Given the description of an element on the screen output the (x, y) to click on. 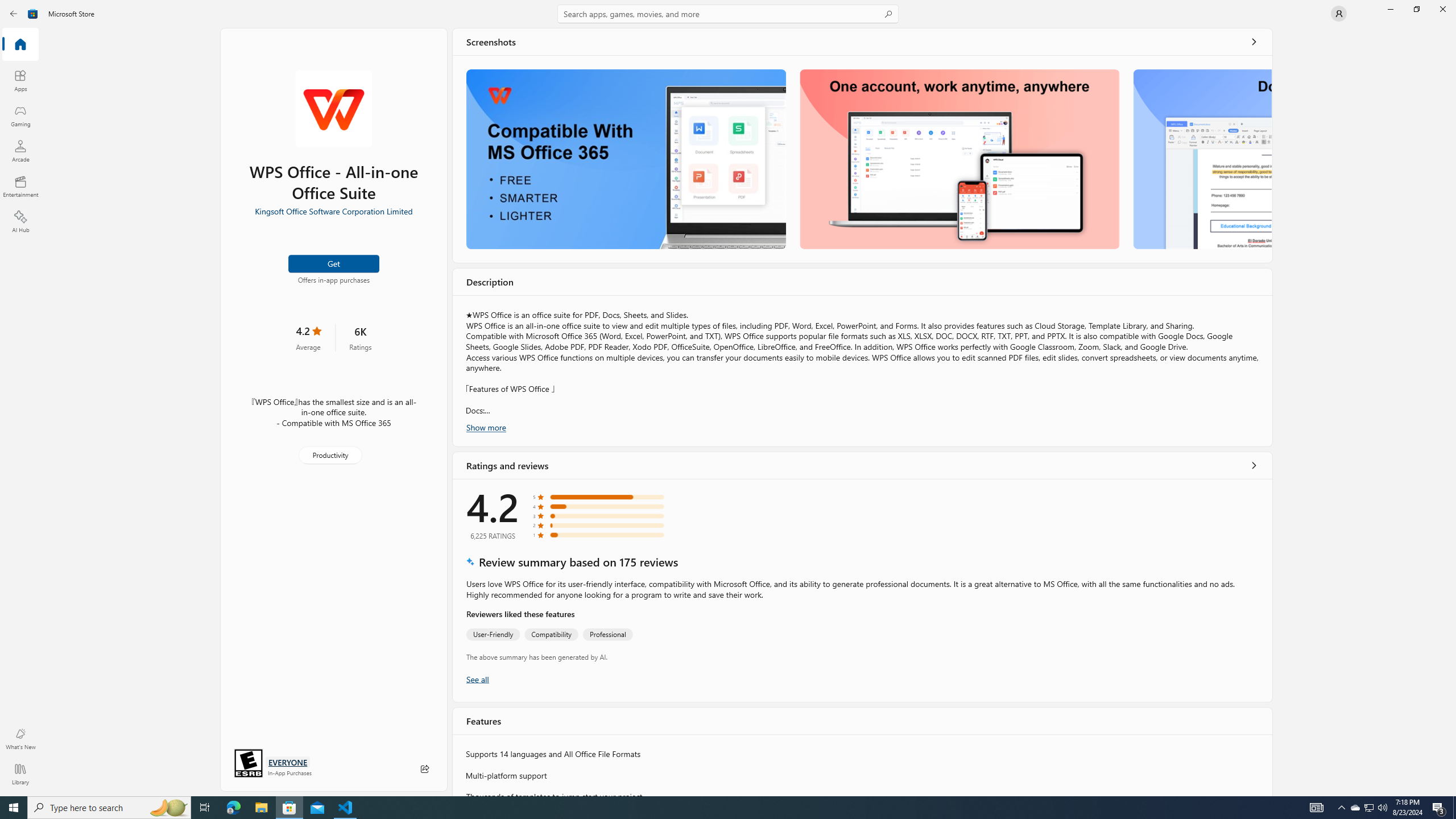
Close Microsoft Store (1442, 9)
Get (334, 263)
Apps (20, 80)
Age rating: EVERYONE. Click for more information. (287, 762)
Home (20, 45)
Screenshot 1 (625, 158)
Show all ratings and reviews (477, 678)
Show all ratings and reviews (1253, 465)
Library (20, 773)
Minimize Microsoft Store (1390, 9)
What's New (20, 738)
See all (1253, 41)
AI Hub (20, 221)
Screenshot 3 (1201, 158)
Restore Microsoft Store (1416, 9)
